Given the description of an element on the screen output the (x, y) to click on. 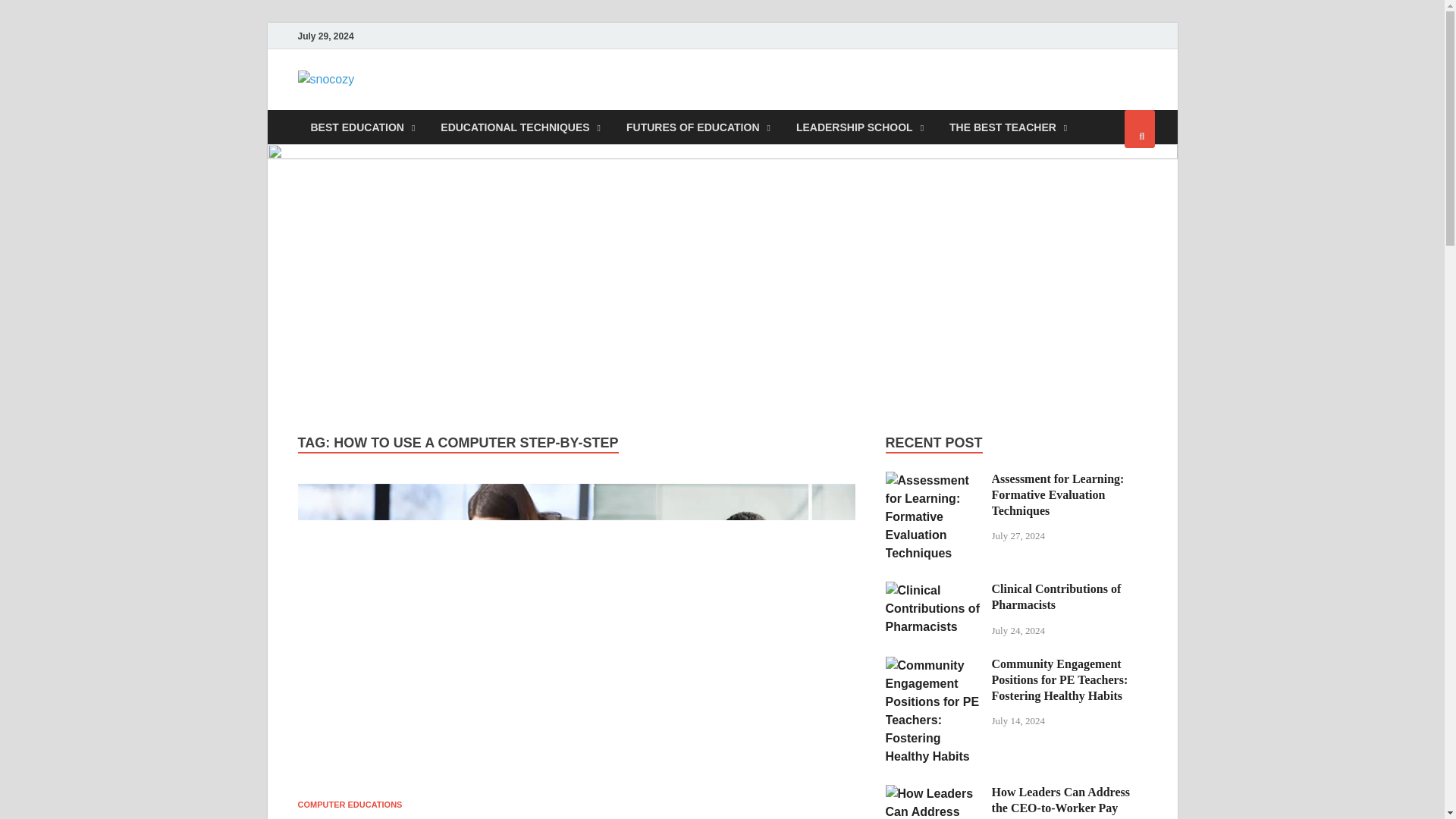
FUTURES OF EDUCATION (697, 126)
COMPUTER EDUCATIONS (349, 804)
EDUCATIONAL TECHNIQUES (520, 126)
Learn How to Use a Computer (426, 816)
snocozy (419, 100)
LEADERSHIP SCHOOL (859, 126)
Assessment for Learning: Formative Evaluation Techniques (932, 480)
Assessment for Learning: Formative Evaluation Techniques (1057, 494)
BEST EDUCATION (362, 126)
Clinical Contributions of Pharmacists (932, 590)
THE BEST TEACHER (1008, 126)
